Given the description of an element on the screen output the (x, y) to click on. 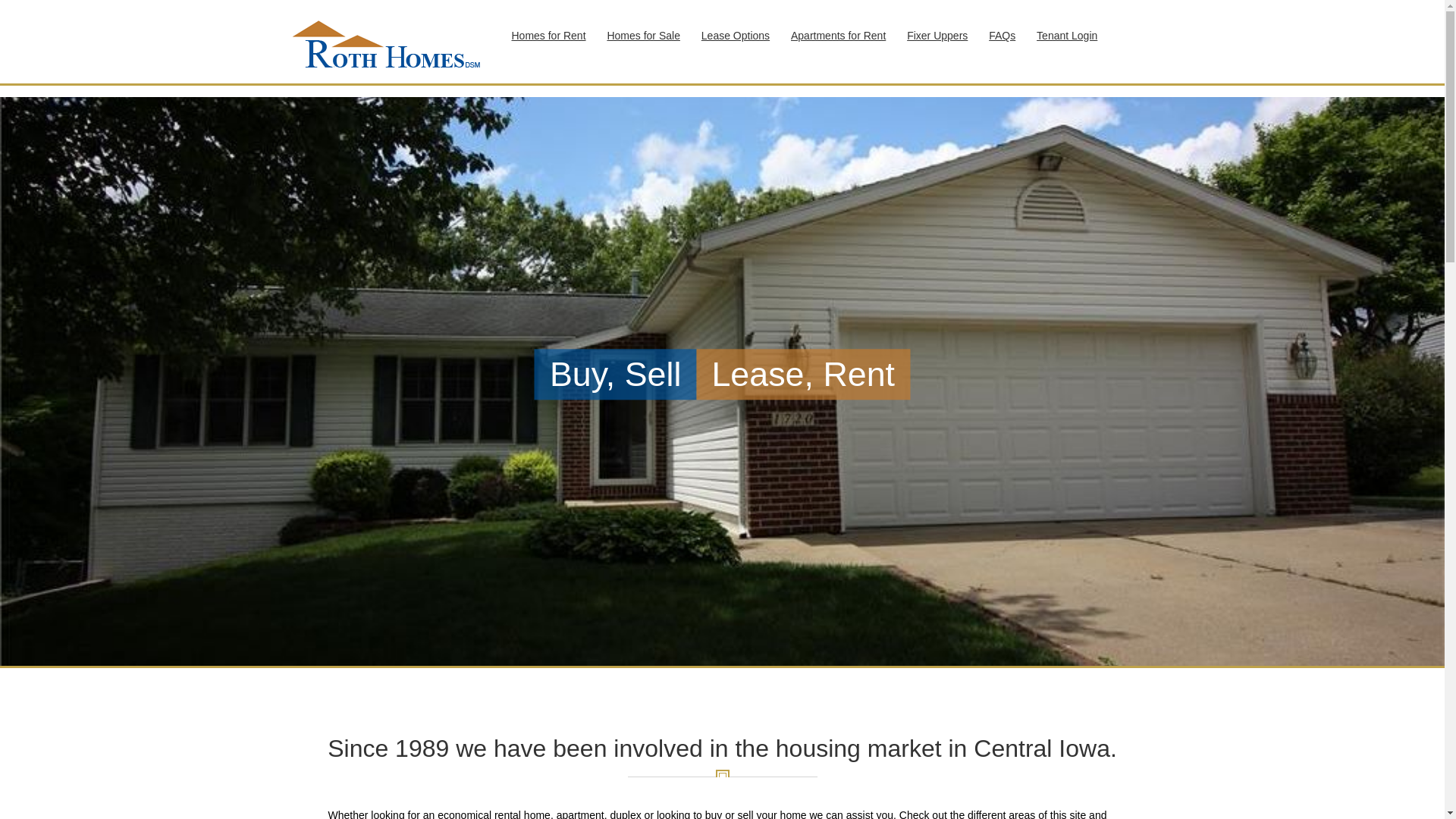
Homes for Sale (642, 35)
Lease Options (735, 35)
Fixer Uppers (937, 35)
Homes for Rent (548, 35)
Tenant Login (1066, 35)
FAQs (1002, 35)
Apartments for Rent (838, 35)
